Given the description of an element on the screen output the (x, y) to click on. 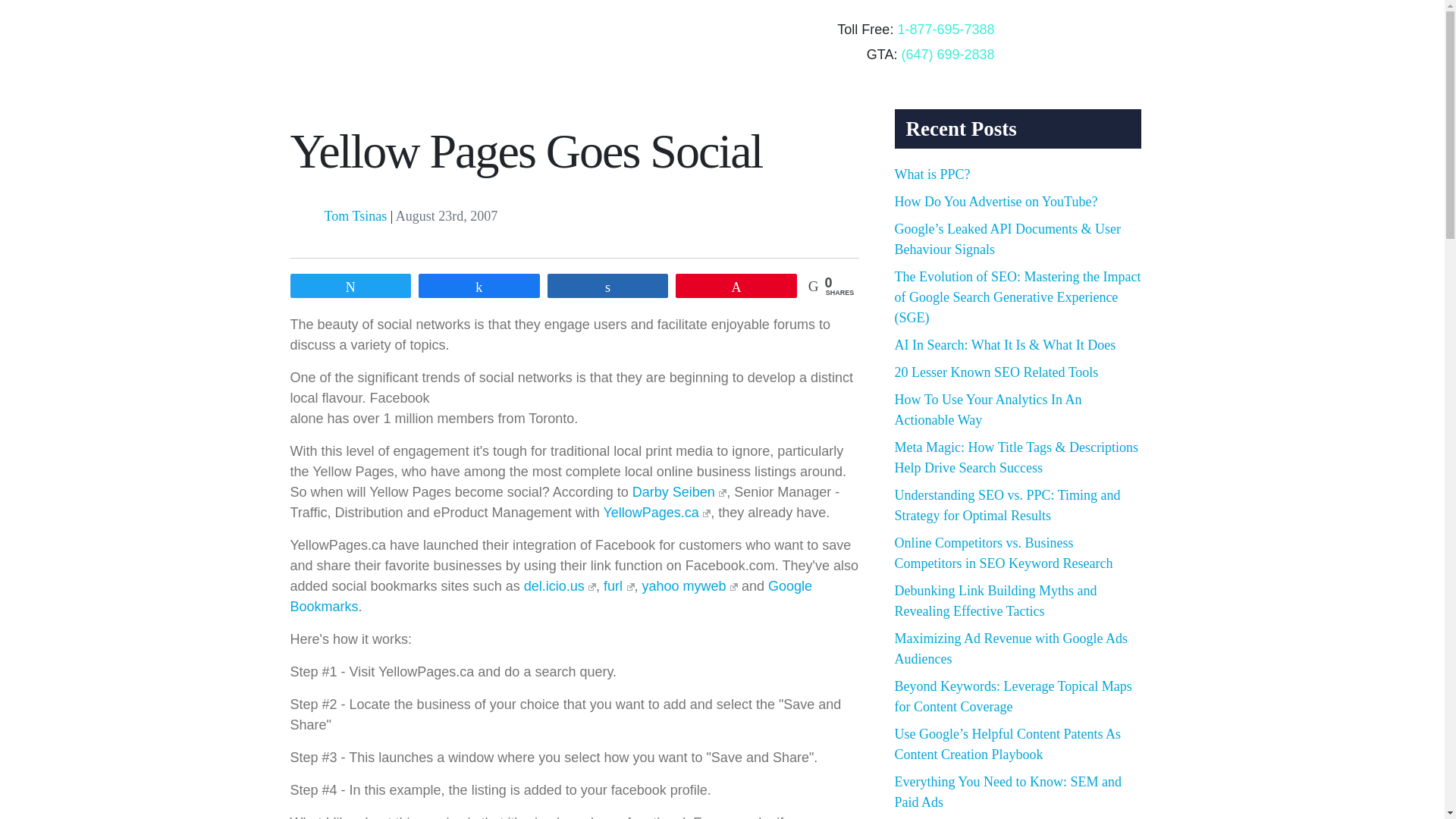
What is PPC? (933, 174)
Darby Seiben (678, 491)
1-877-695-7388 (945, 29)
How Do You Advertise on YouTube? (996, 201)
20 Lesser Known SEO Related Tools (997, 372)
Tom Tsinas (355, 215)
yahoo myweb (690, 585)
del.icio.us (559, 585)
Google Bookmarks (550, 596)
furl (618, 585)
